Given the description of an element on the screen output the (x, y) to click on. 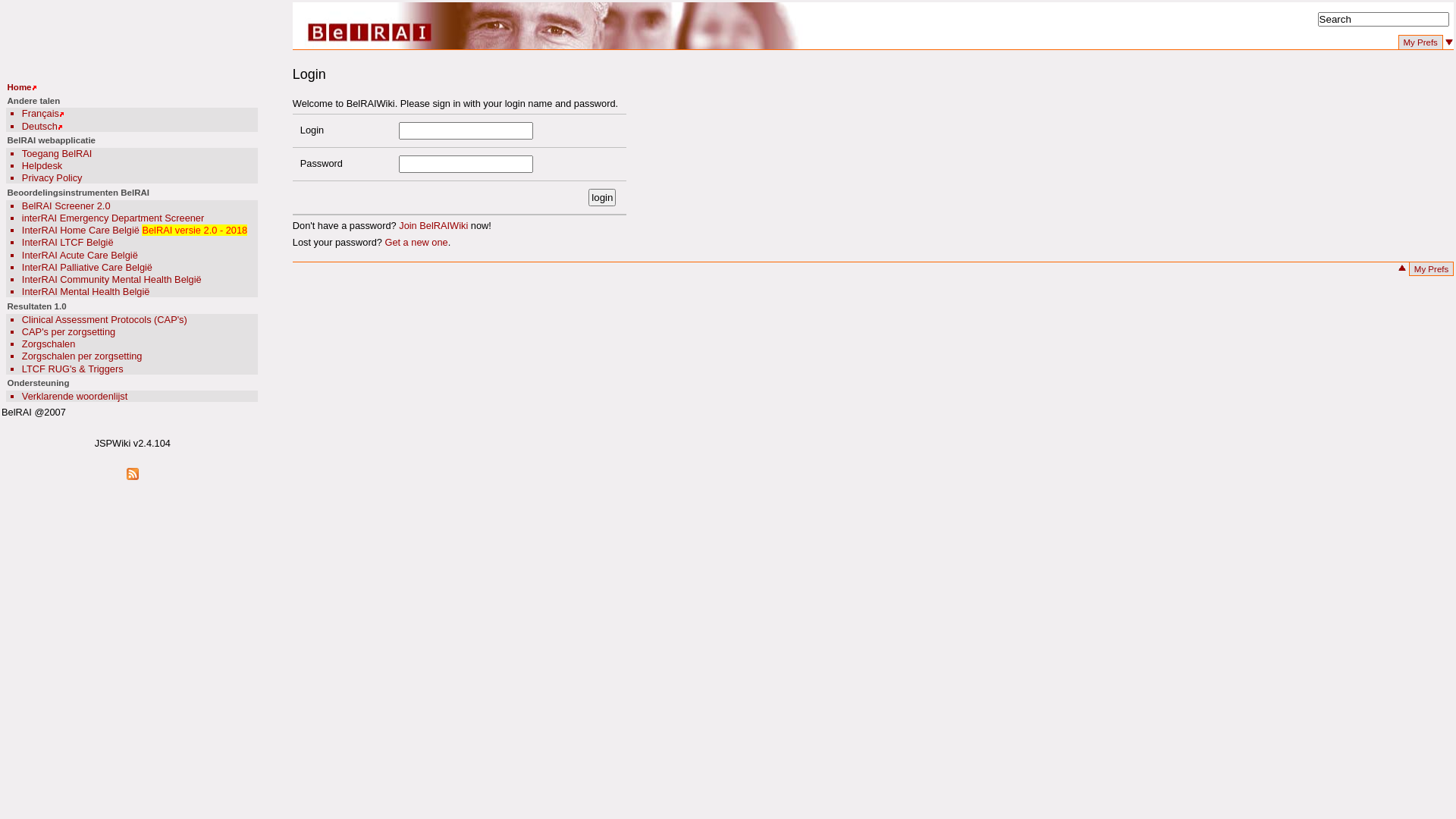
  Element type: text (1449, 46)
BelRAI Screener 2.0 Element type: text (65, 205)
My Prefs Element type: text (1420, 41)
Clinical Assessment Protocols (CAP's) Element type: text (104, 319)
Get a new one Element type: text (415, 241)
Deutsch Element type: text (39, 125)
Triggers Element type: text (104, 368)
LTCF RUG's Element type: text (48, 368)
Aggregate the RSS feed of the entire wiki Element type: hover (132, 473)
login Element type: text (601, 197)
My Prefs Element type: text (1430, 269)
Privacy Policy Element type: text (51, 177)
CAP's per zorgsetting Element type: text (68, 331)
Go to Bottom Element type: hover (1449, 46)
Home Element type: text (19, 86)
Go to Top Element type: hover (1402, 272)
  Element type: text (1402, 272)
Verklarende woordenlijst Element type: text (74, 395)
Zorgschalen Element type: text (48, 343)
Helpdesk Element type: text (41, 165)
Join BelRAIWiki Element type: text (432, 225)
Toegang BelRAI Element type: text (56, 153)
Zorgschalen per zorgsetting Element type: text (81, 355)
interRAI Emergency Department Screener Element type: text (112, 217)
